Given the description of an element on the screen output the (x, y) to click on. 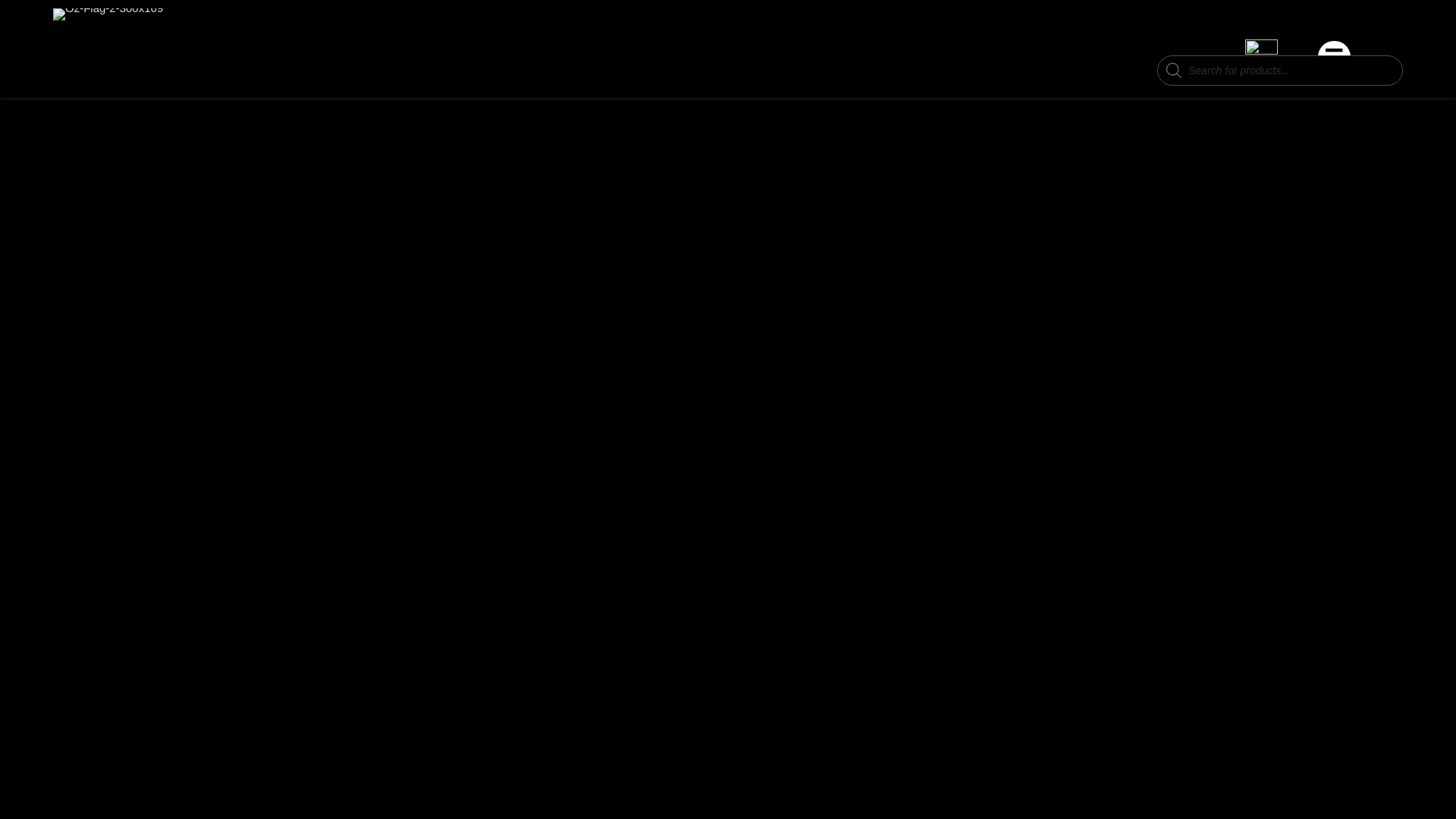
Oz-Flag-2-300x169 (107, 14)
0 items (1261, 79)
Start shopping (1261, 79)
